Given the description of an element on the screen output the (x, y) to click on. 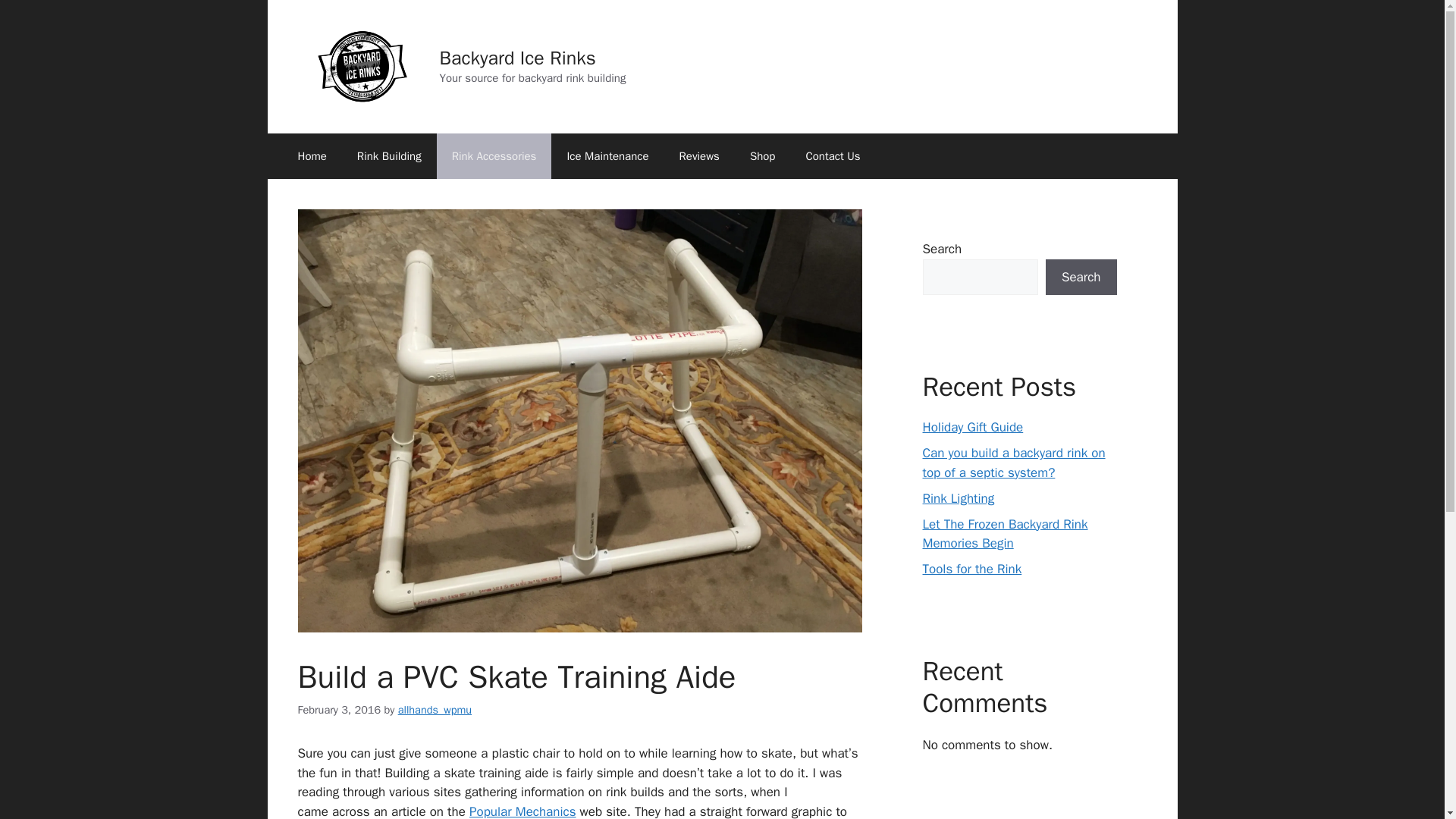
Can you build a backyard rink on top of a septic system? (1013, 462)
Let The Frozen Backyard Rink Memories Begin (1004, 533)
Reviews (699, 156)
Rink Lighting (957, 497)
Holiday Gift Guide (972, 426)
Ice Maintenance (607, 156)
Shop (762, 156)
Rink Building (389, 156)
Tools for the Rink (971, 569)
Popular Mechanics (522, 811)
Contact Us (832, 156)
Search (1080, 277)
Backyard Ice Rinks (517, 57)
Home (311, 156)
Rink Accessories (493, 156)
